Given the description of an element on the screen output the (x, y) to click on. 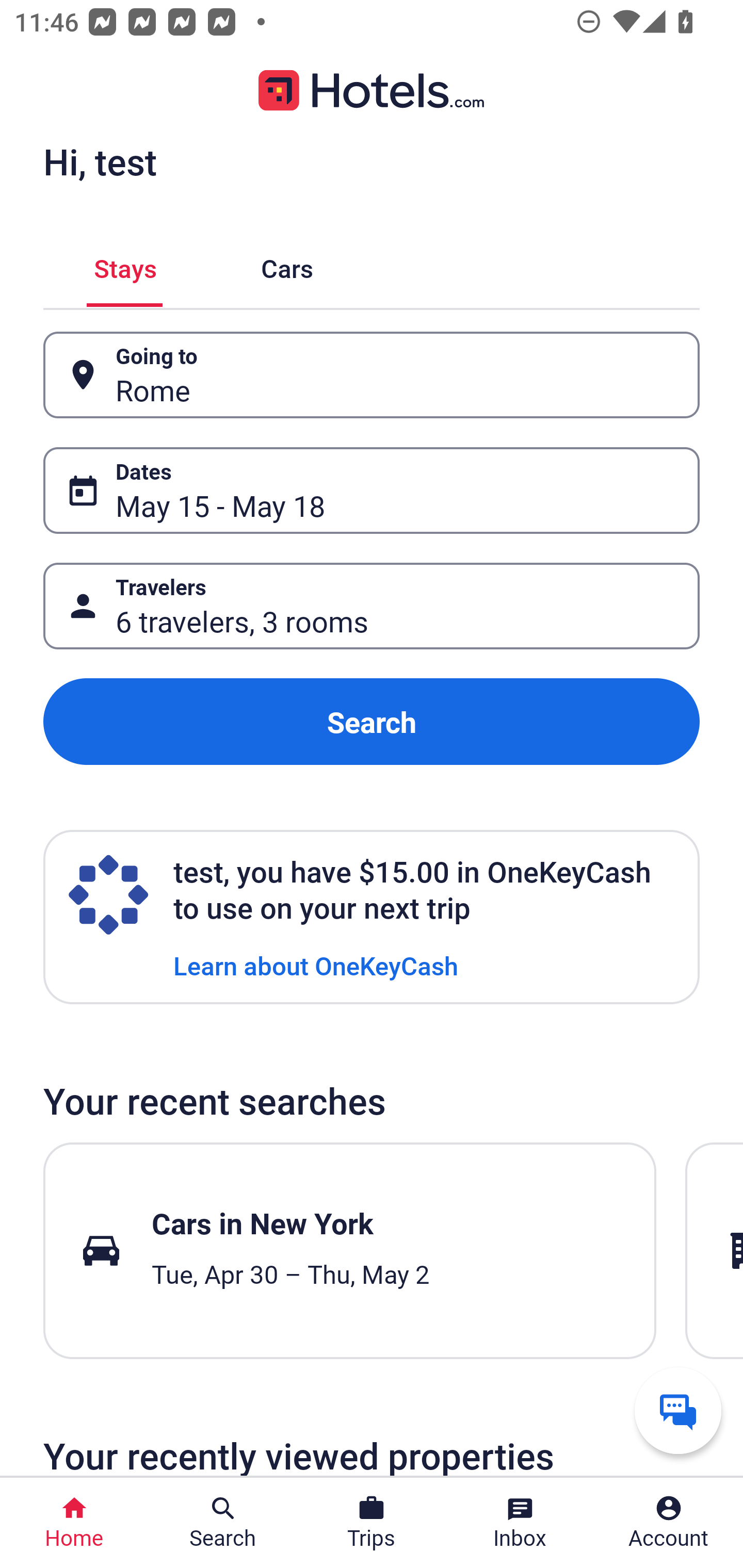
Hi, test (99, 161)
Cars (286, 265)
Going to Button Rome (371, 375)
Dates Button May 15 - May 18 (371, 489)
Travelers Button 6 travelers, 3 rooms (371, 605)
Search (371, 721)
Learn about OneKeyCash Learn about OneKeyCash Link (315, 964)
Get help from a virtual agent (677, 1410)
Search Search Button (222, 1522)
Trips Trips Button (371, 1522)
Inbox Inbox Button (519, 1522)
Account Profile. Button (668, 1522)
